Given the description of an element on the screen output the (x, y) to click on. 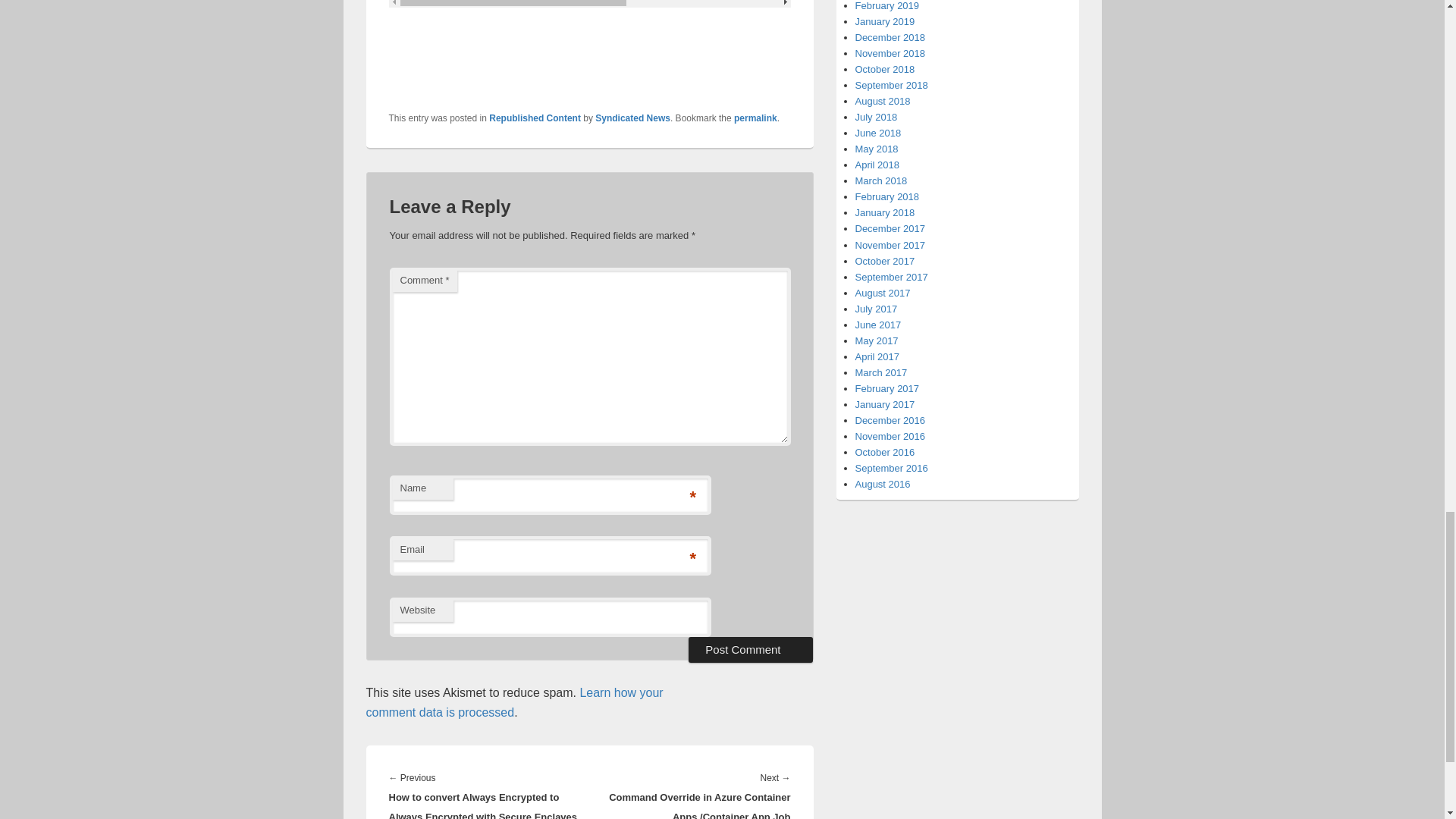
Syndicated News (632, 118)
Republished Content (534, 118)
Learn how your comment data is processed (513, 702)
Post Comment (750, 649)
permalink (755, 118)
Post Comment (750, 649)
